Given the description of an element on the screen output the (x, y) to click on. 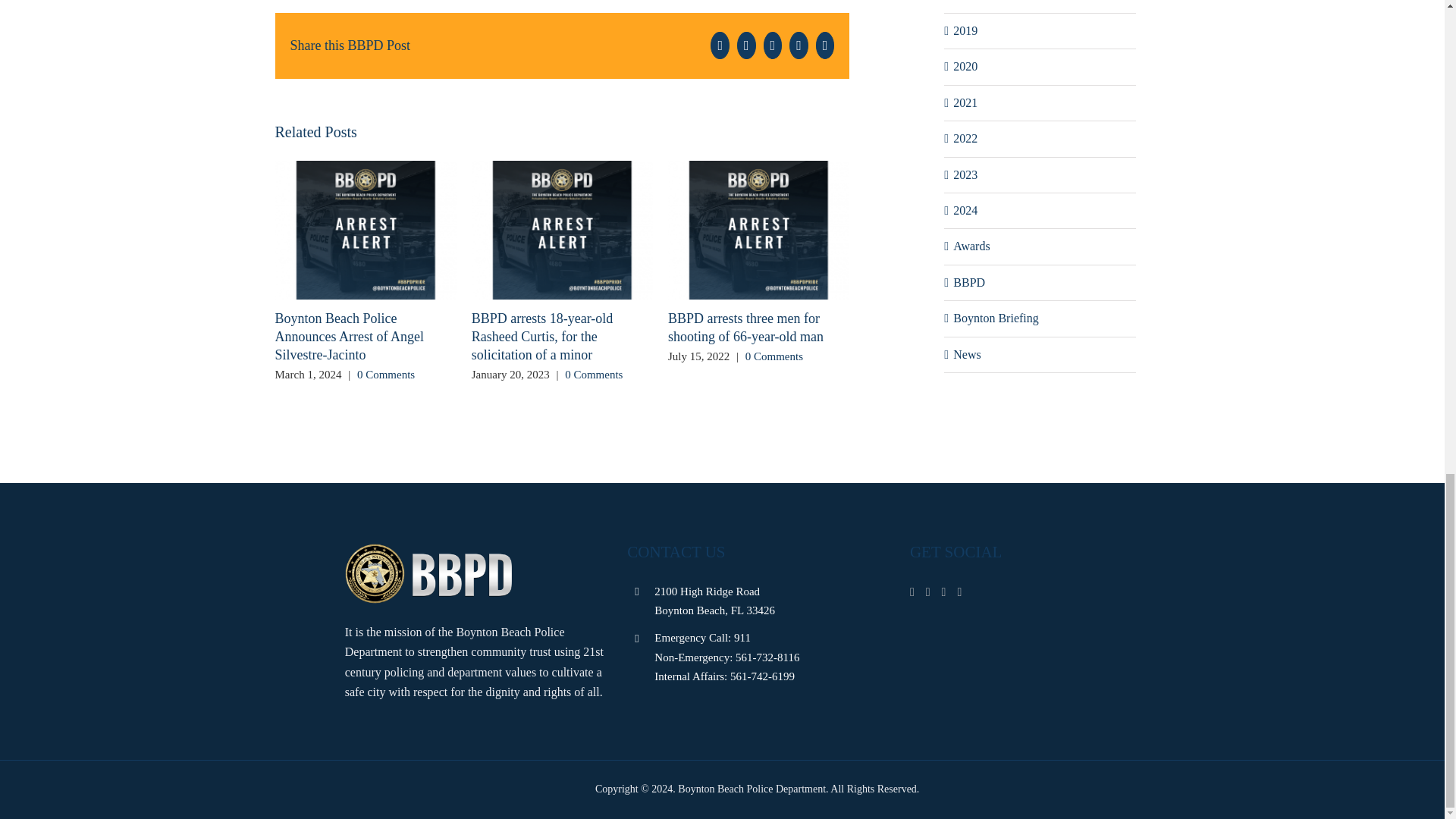
0 Comments (593, 374)
0 Comments (774, 356)
0 Comments (385, 374)
BBPD arrests three men for shooting of 66-year-old man (746, 327)
